Given the description of an element on the screen output the (x, y) to click on. 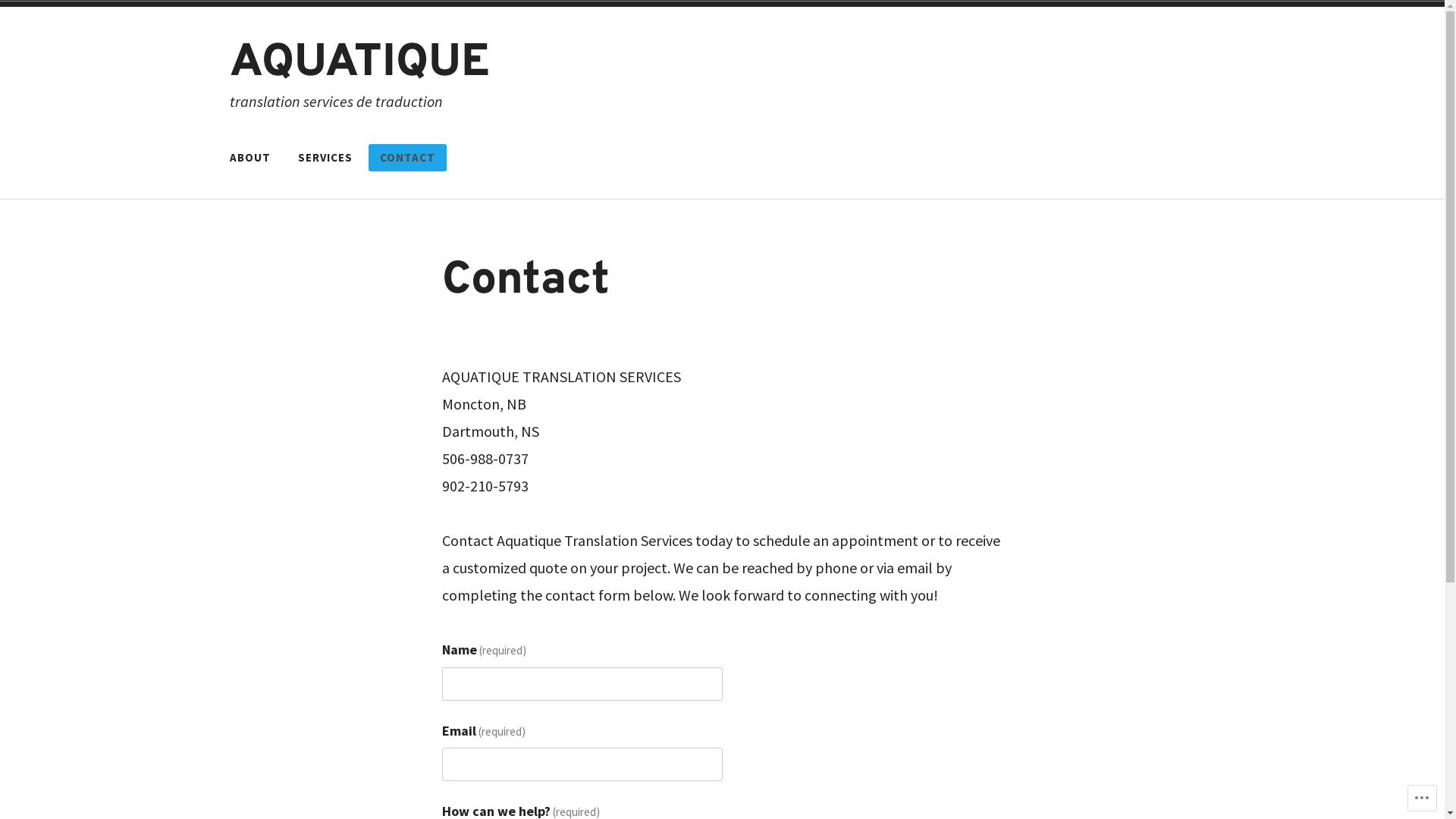
AQUATIQUE Element type: text (359, 63)
SERVICES Element type: text (325, 157)
CONTACT Element type: text (407, 157)
ABOUT Element type: text (250, 157)
